Given the description of an element on the screen output the (x, y) to click on. 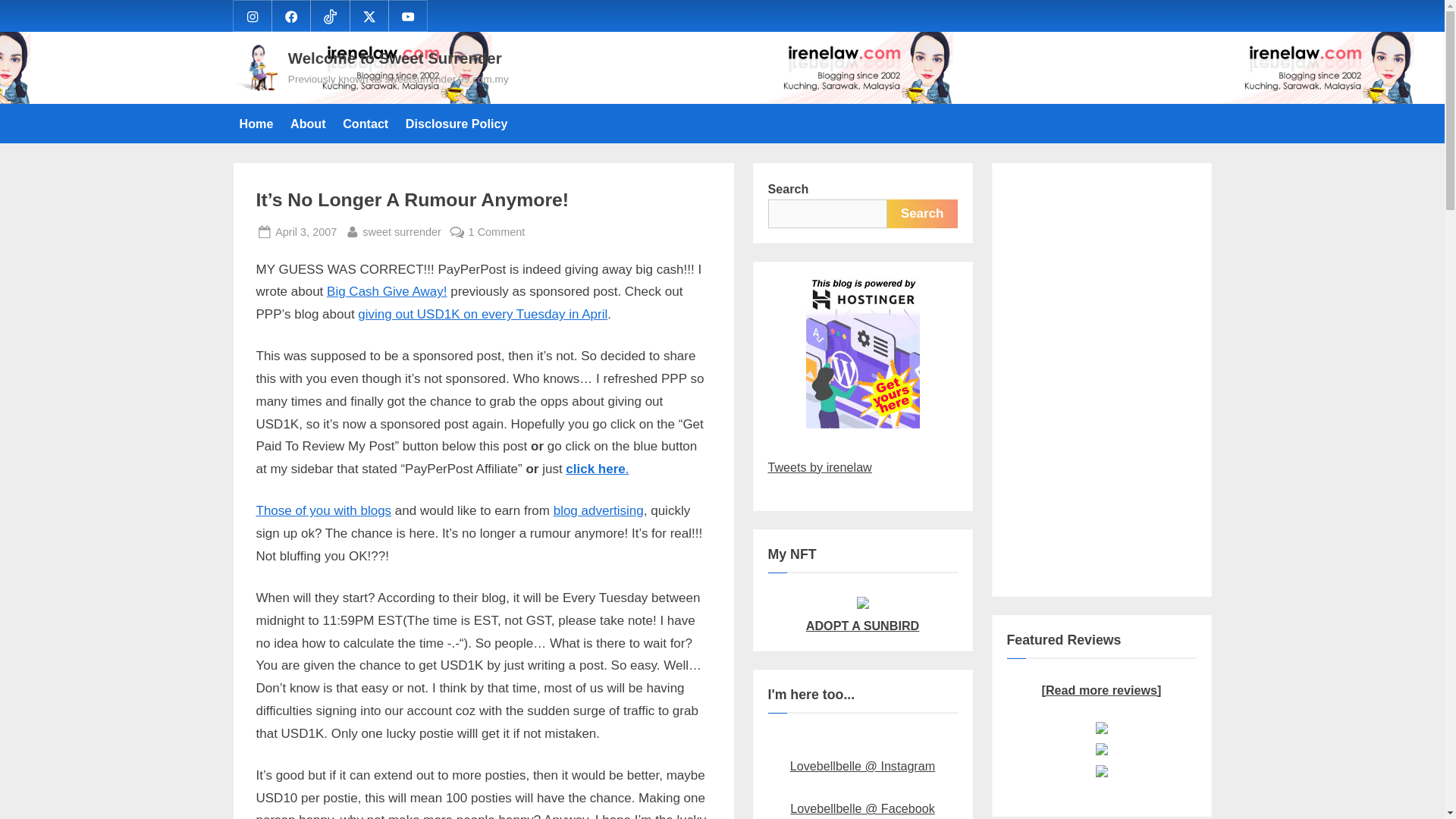
giving out USD1K on every Tuesday in April (482, 314)
blog advertising (401, 231)
click here (598, 510)
ADOPT A SUNBIRD (595, 468)
Those of you with (862, 614)
Tweets by irenelaw (308, 510)
Facebook (818, 467)
Search (291, 15)
Contact (922, 213)
